Given the description of an element on the screen output the (x, y) to click on. 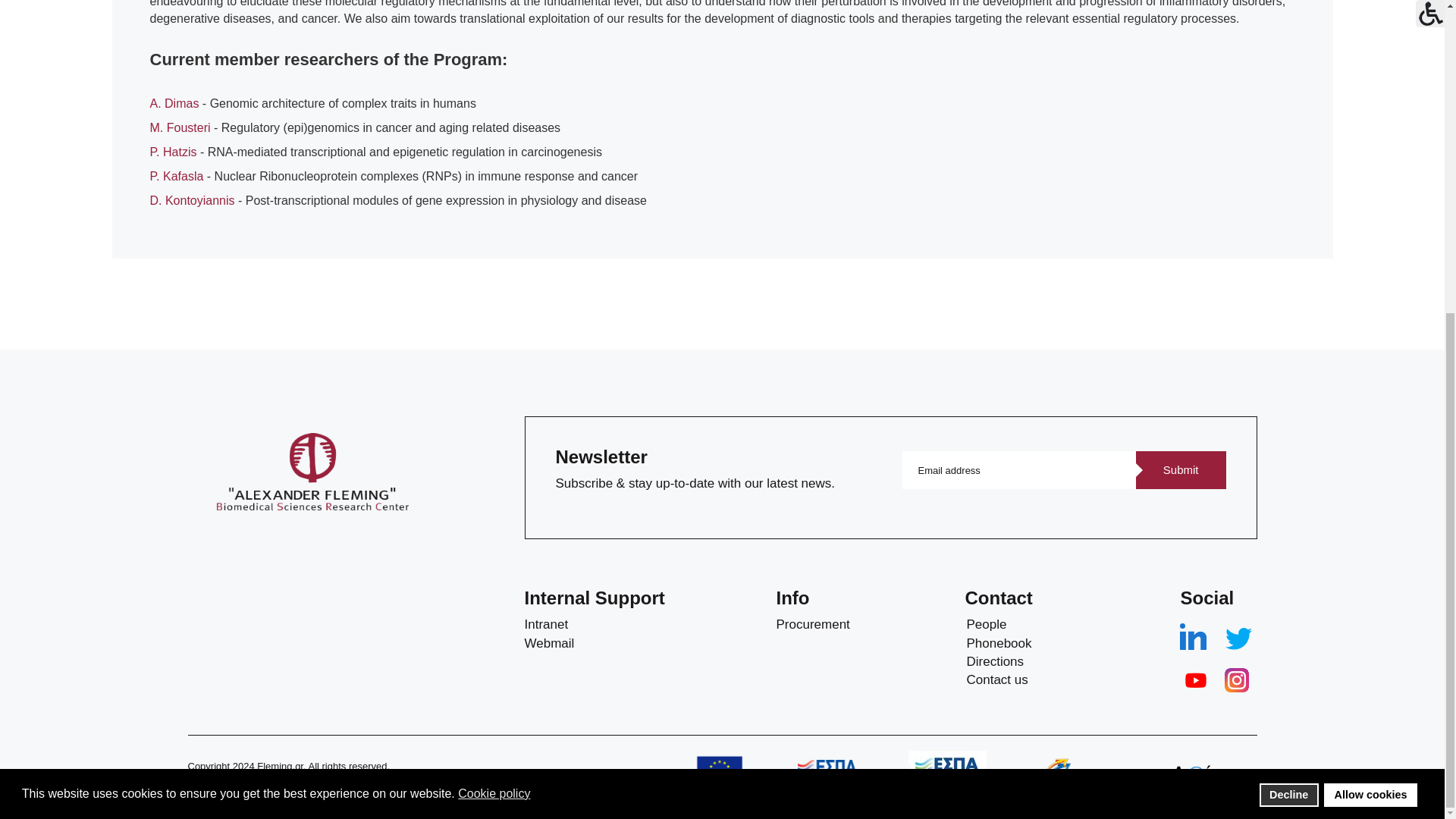
Cookie policy (495, 293)
Decline (1289, 293)
Allow cookies (1369, 293)
